Given the description of an element on the screen output the (x, y) to click on. 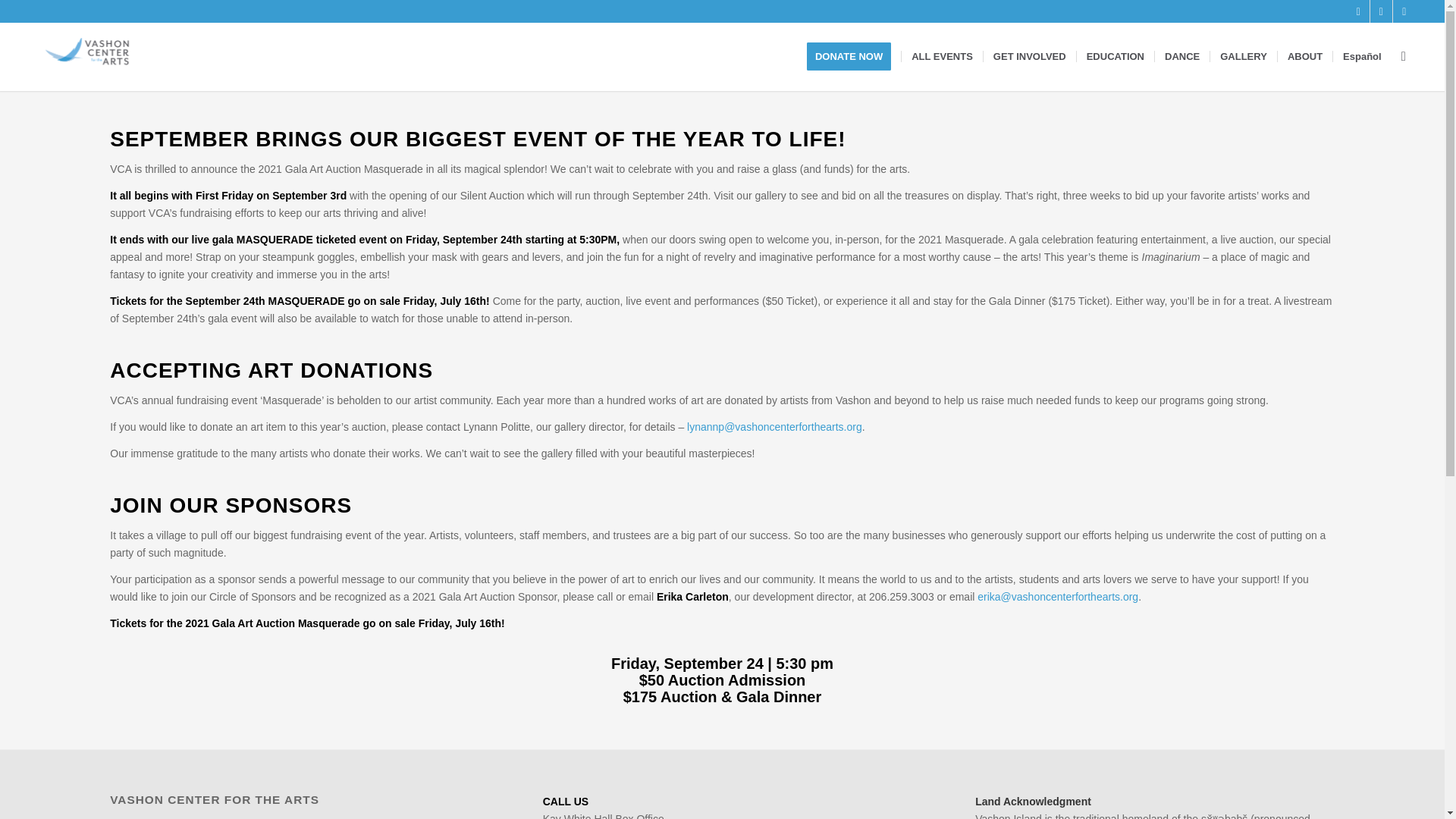
Youtube (1404, 11)
GALLERY (1242, 56)
Facebook (1380, 11)
Instagram (1359, 11)
EDUCATION (1114, 56)
ALL EVENTS (941, 56)
DONATE NOW (853, 56)
GET INVOLVED (1028, 56)
